Given the description of an element on the screen output the (x, y) to click on. 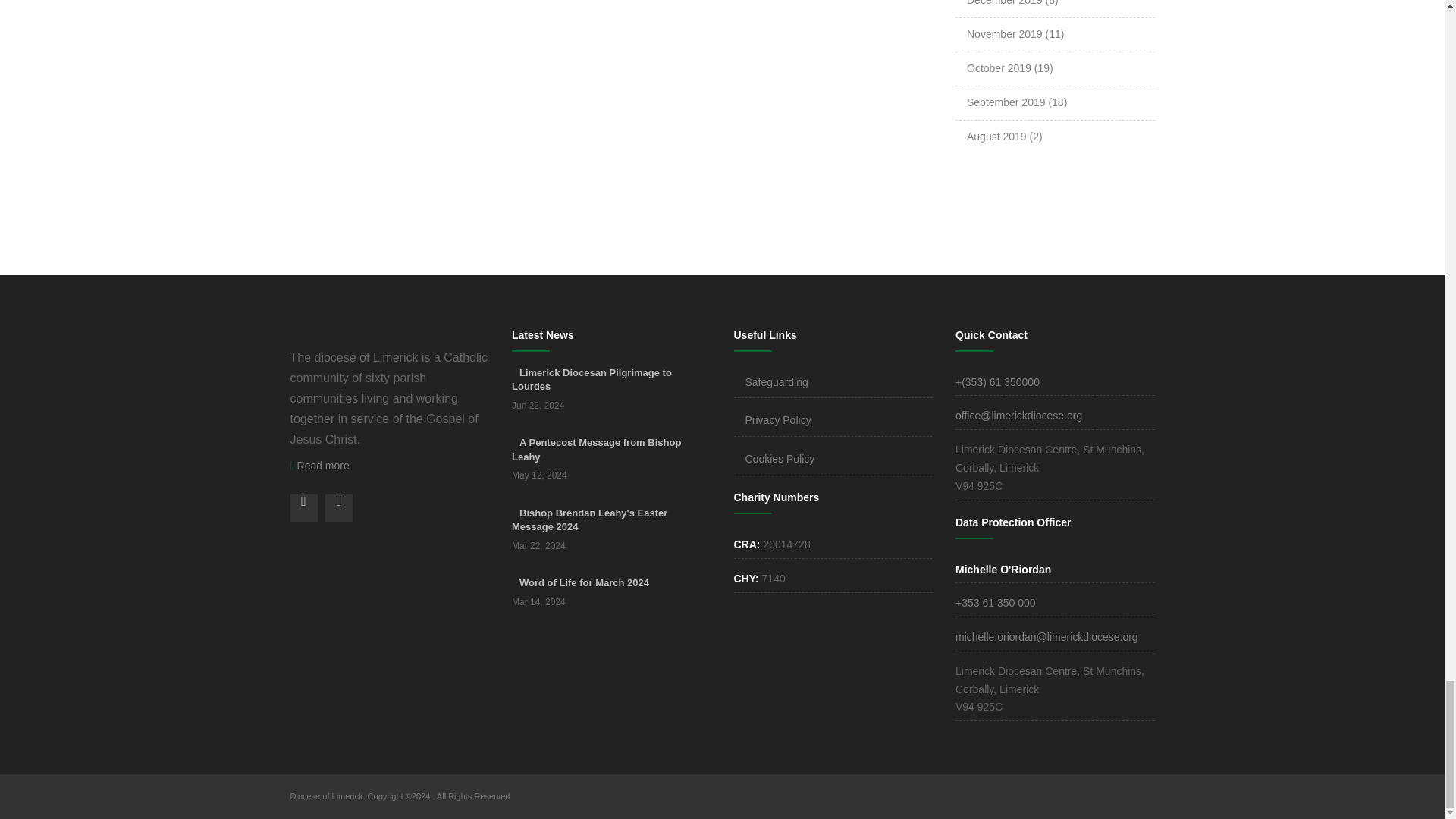
Facebook (303, 507)
Instgram (338, 507)
